Given the description of an element on the screen output the (x, y) to click on. 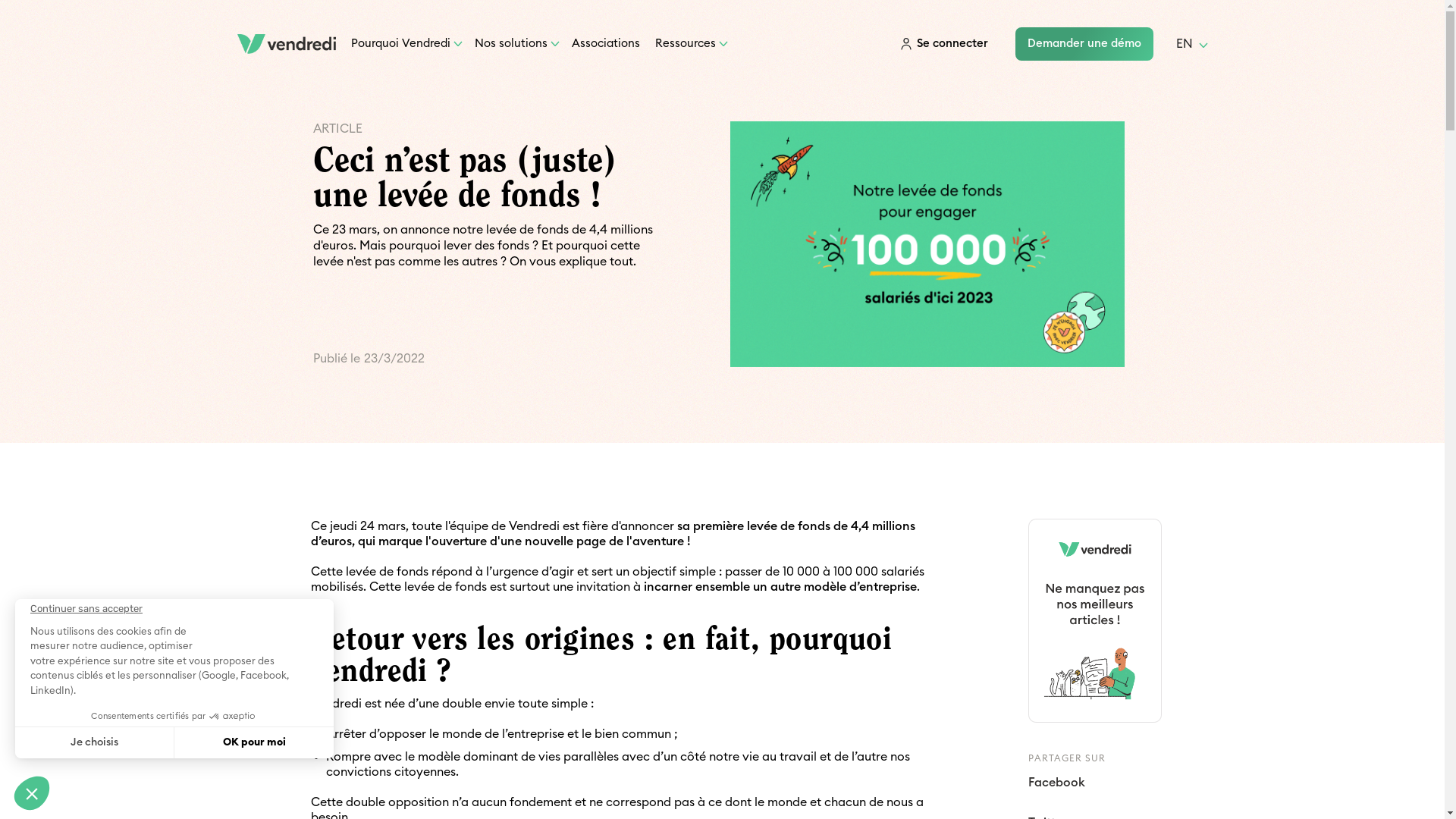
Se connecter Element type: text (943, 43)
Associations Element type: text (605, 43)
OK pour moi Element type: text (253, 742)
Continuer sans accepter Element type: hover (31, 793)
Facebook Element type: text (1056, 782)
Je choisis Element type: text (94, 742)
